Given the description of an element on the screen output the (x, y) to click on. 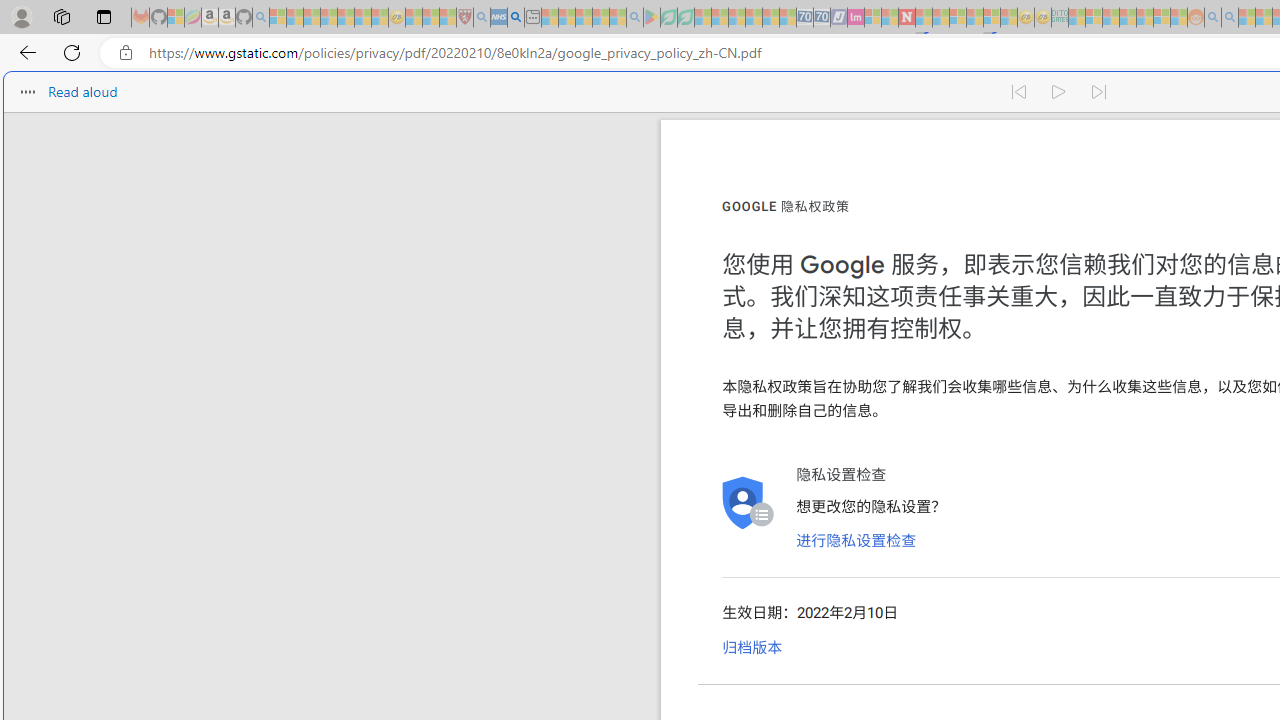
Kinda Frugal - MSN - Sleeping (1144, 17)
NCL Adult Asthma Inhaler Choice Guideline - Sleeping (498, 17)
14 Common Myths Debunked By Scientific Facts - Sleeping (940, 17)
New Report Confirms 2023 Was Record Hot | Watch - Sleeping (345, 17)
Read previous paragraph (1018, 92)
Trusted Community Engagement and Contributions | Guidelines (923, 17)
google - Search - Sleeping (634, 17)
Pets - MSN - Sleeping (600, 17)
